Given the description of an element on the screen output the (x, y) to click on. 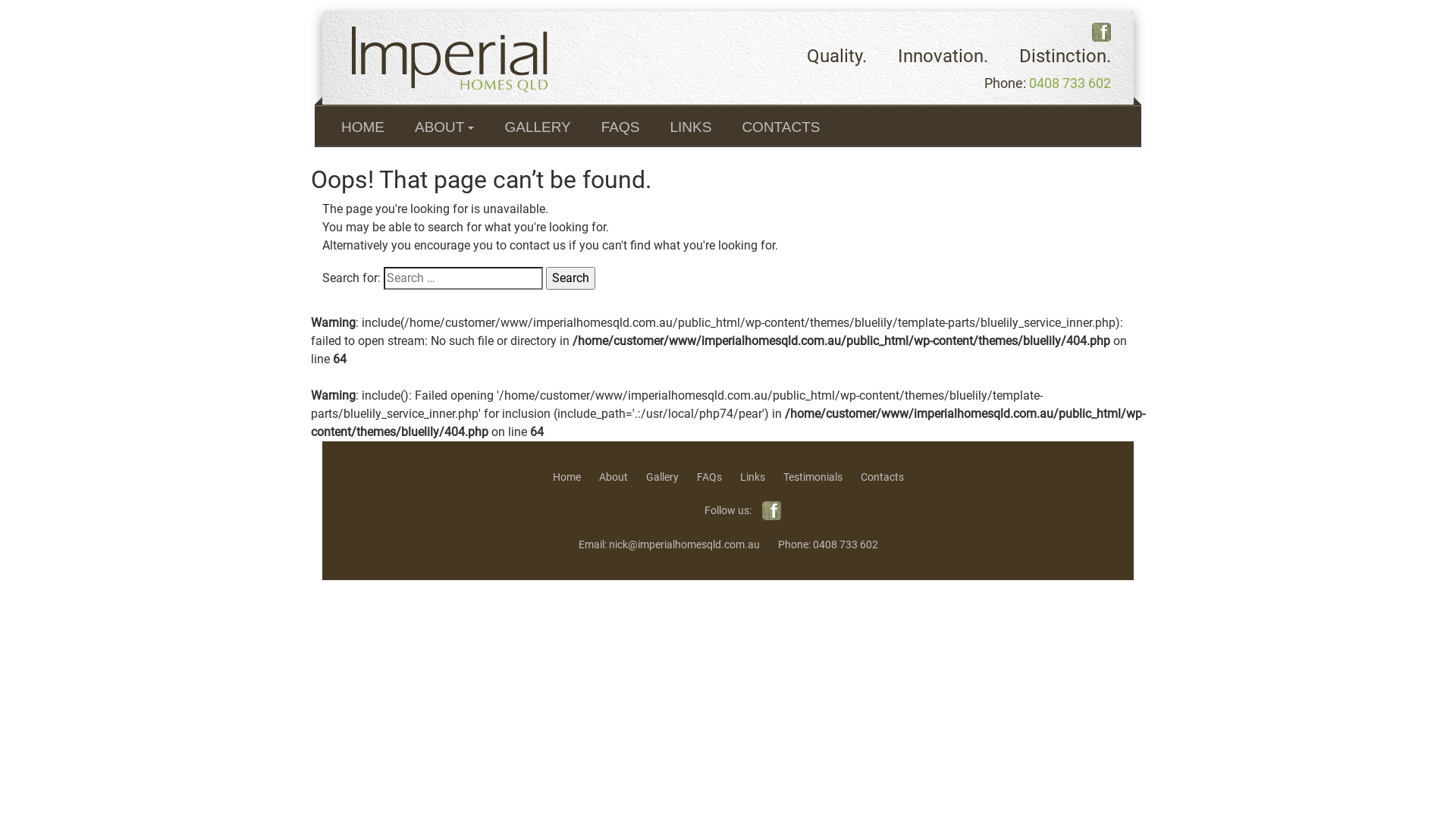
Search Element type: text (570, 277)
0408 733 602 Element type: text (1069, 83)
FAQs Element type: text (708, 476)
Home Element type: text (566, 476)
Testimonials Element type: text (811, 476)
Innovation. Element type: text (942, 55)
Links Element type: text (752, 476)
GALLERY Element type: text (537, 125)
Quality. Element type: text (836, 55)
About Element type: text (613, 476)
ABOUT Element type: text (444, 125)
Follow us: Element type: text (727, 510)
LINKS Element type: text (690, 125)
HOME Element type: text (362, 125)
0408 733 602 Element type: text (845, 544)
FAQS Element type: text (620, 125)
Distinction. Element type: text (1064, 55)
Contacts Element type: text (881, 476)
CONTACTS Element type: text (780, 125)
Gallery Element type: text (662, 476)
nick@imperialhomesqld.com.au Element type: text (683, 544)
